Given the description of an element on the screen output the (x, y) to click on. 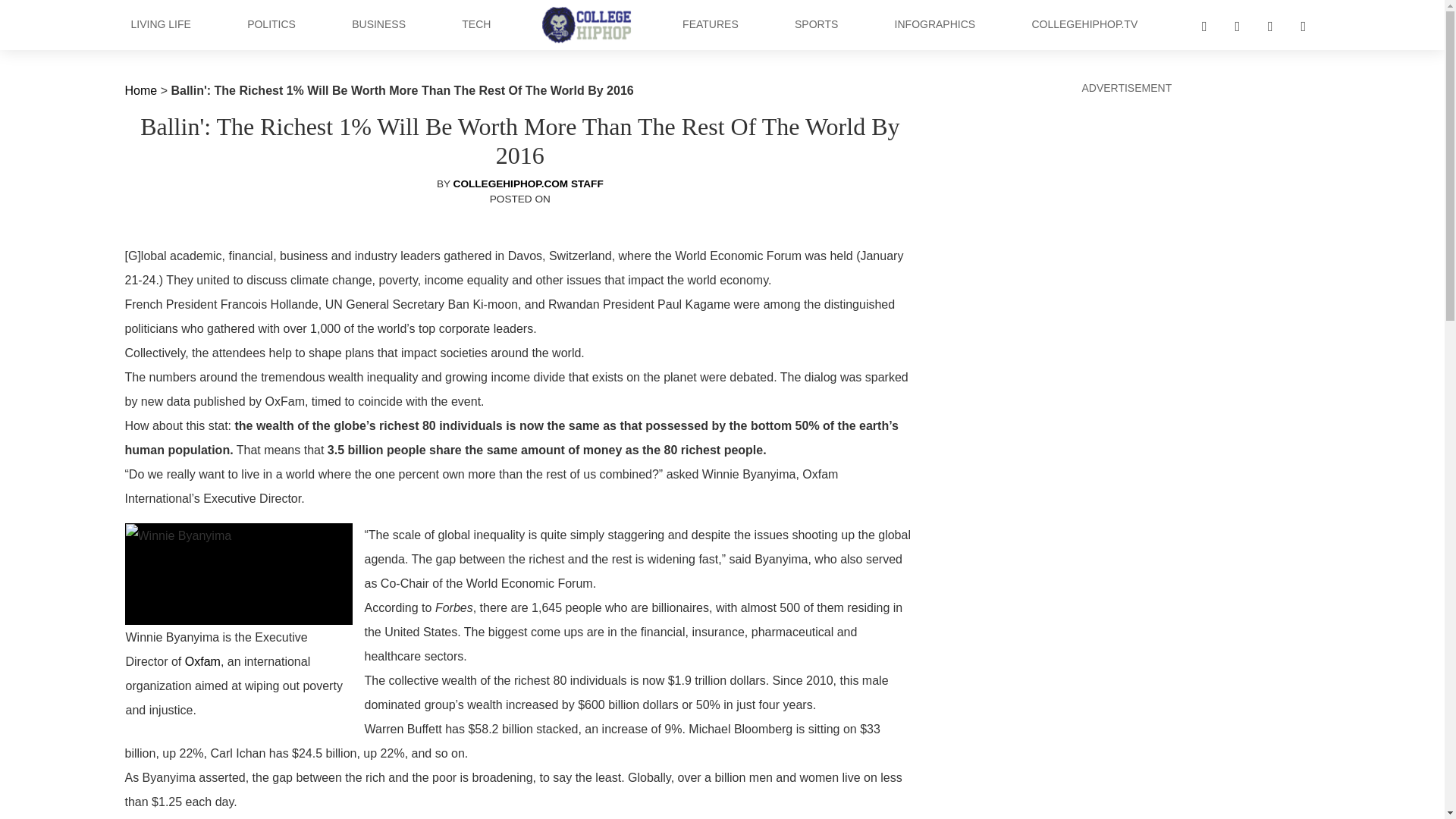
BUSINESS (379, 24)
SPORTS (816, 24)
CollegeHipHop.TV (1083, 24)
COLLEGEHIPHOP.TV (1083, 24)
Sports (816, 24)
FEATURES (710, 24)
Features (710, 24)
Business (379, 24)
TECH (475, 24)
Politics (271, 24)
